Given the description of an element on the screen output the (x, y) to click on. 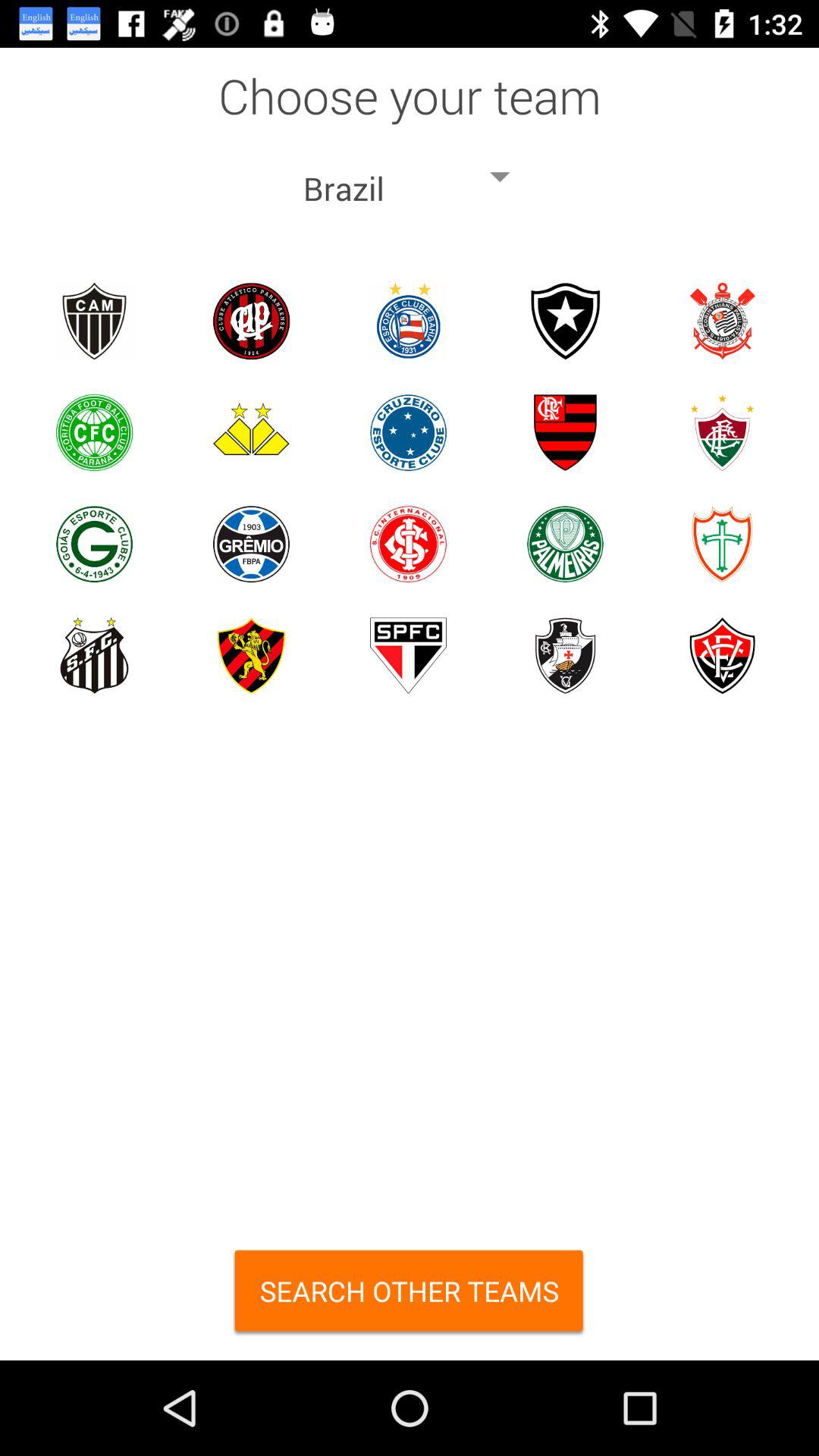
selects a team (565, 544)
